Given the description of an element on the screen output the (x, y) to click on. 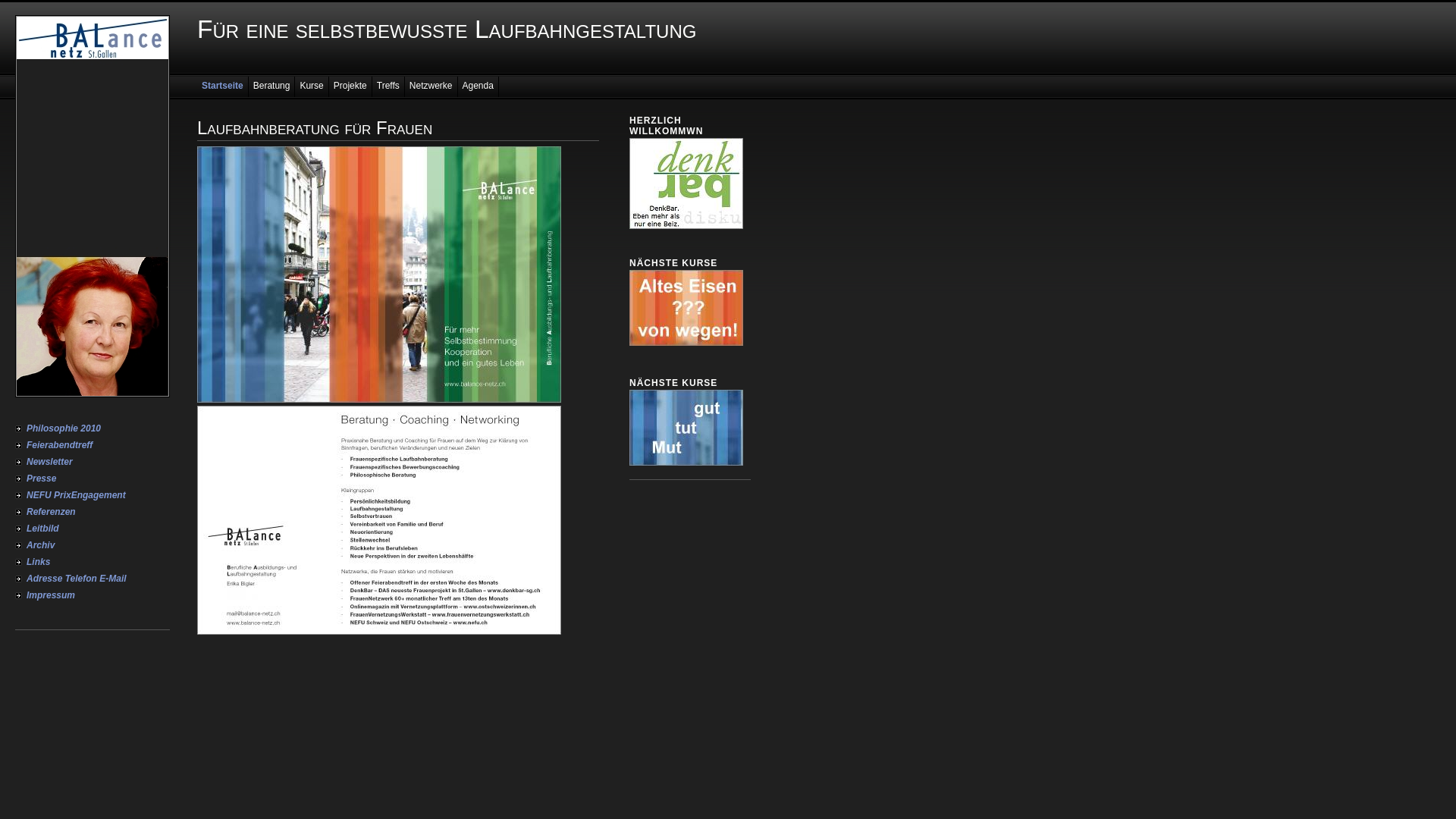
Feierabendtreff Element type: text (92, 444)
Projekte Element type: text (350, 86)
Impressum Element type: text (92, 594)
Links Element type: text (92, 561)
Kurse Element type: text (311, 86)
Beratung Element type: text (271, 86)
Startseite Element type: text (222, 86)
Leitbild Element type: text (92, 528)
Adresse Telefon E-Mail Element type: text (92, 578)
Agenda Element type: text (478, 86)
Philosophie 2010 Element type: text (92, 428)
Netzwerke Element type: text (431, 86)
Treffs Element type: text (388, 86)
Newsletter Element type: text (92, 461)
Archiv Element type: text (92, 544)
Referenzen Element type: text (92, 511)
NEFU PrixEngagement Element type: text (92, 494)
Presse Element type: text (92, 478)
